Given the description of an element on the screen output the (x, y) to click on. 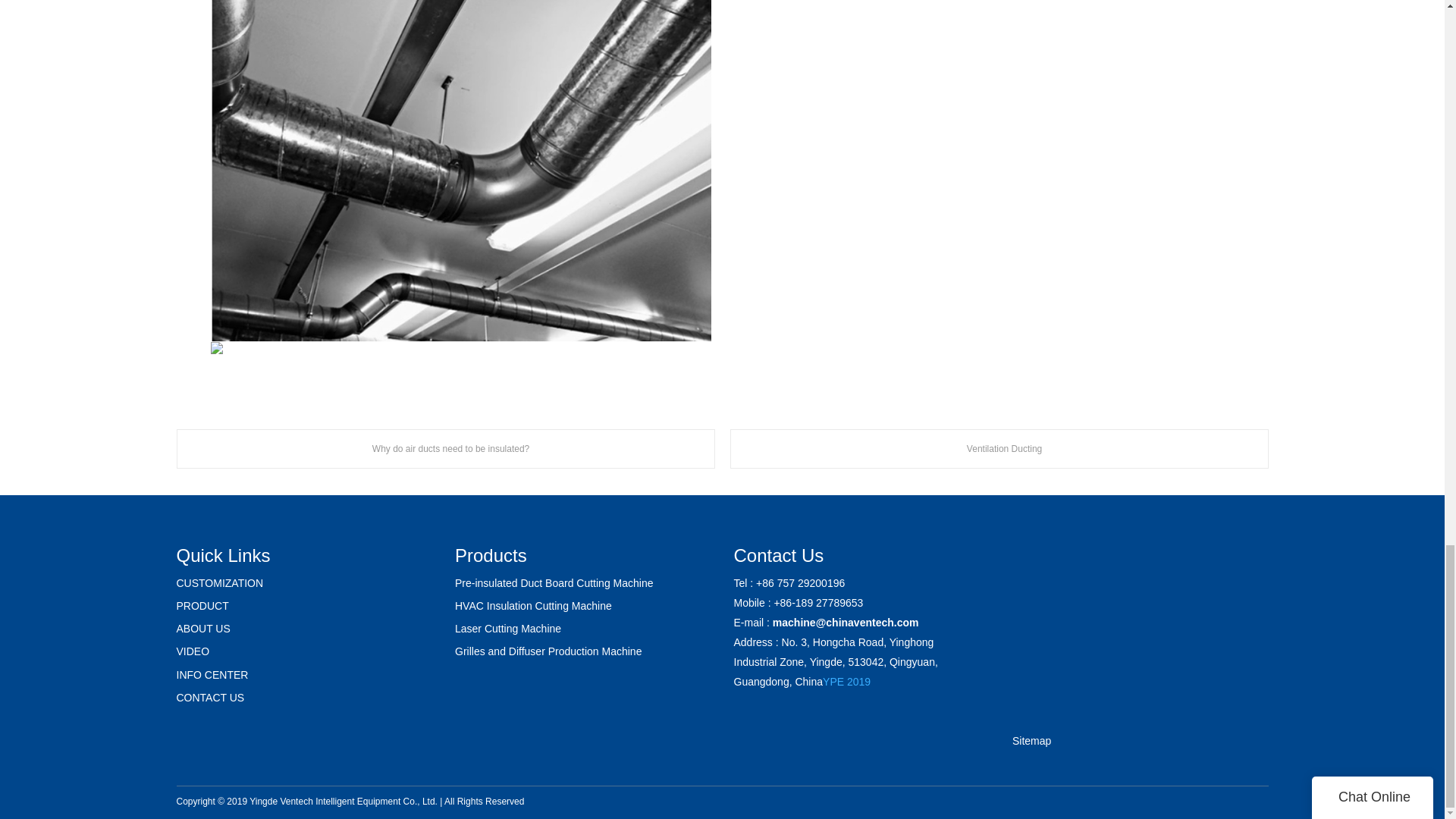
CONTACT US (210, 697)
Ventilation Ducting (998, 448)
Why do air ducts need to be insulated? (445, 448)
Grilles and Diffuser Production Machine (548, 651)
PRODUCT (202, 605)
VIDEO (192, 651)
Pre-insulated Duct Board Cutting Machine (553, 582)
CUSTOMIZATION (219, 582)
Ventilation Ducting (998, 448)
Laser Cutting Machine (507, 628)
HVAC Insulation Cutting Machine (532, 605)
Why do air ducts need to be insulated? (445, 448)
ABOUT US (203, 628)
INFO CENTER (211, 674)
